Given the description of an element on the screen output the (x, y) to click on. 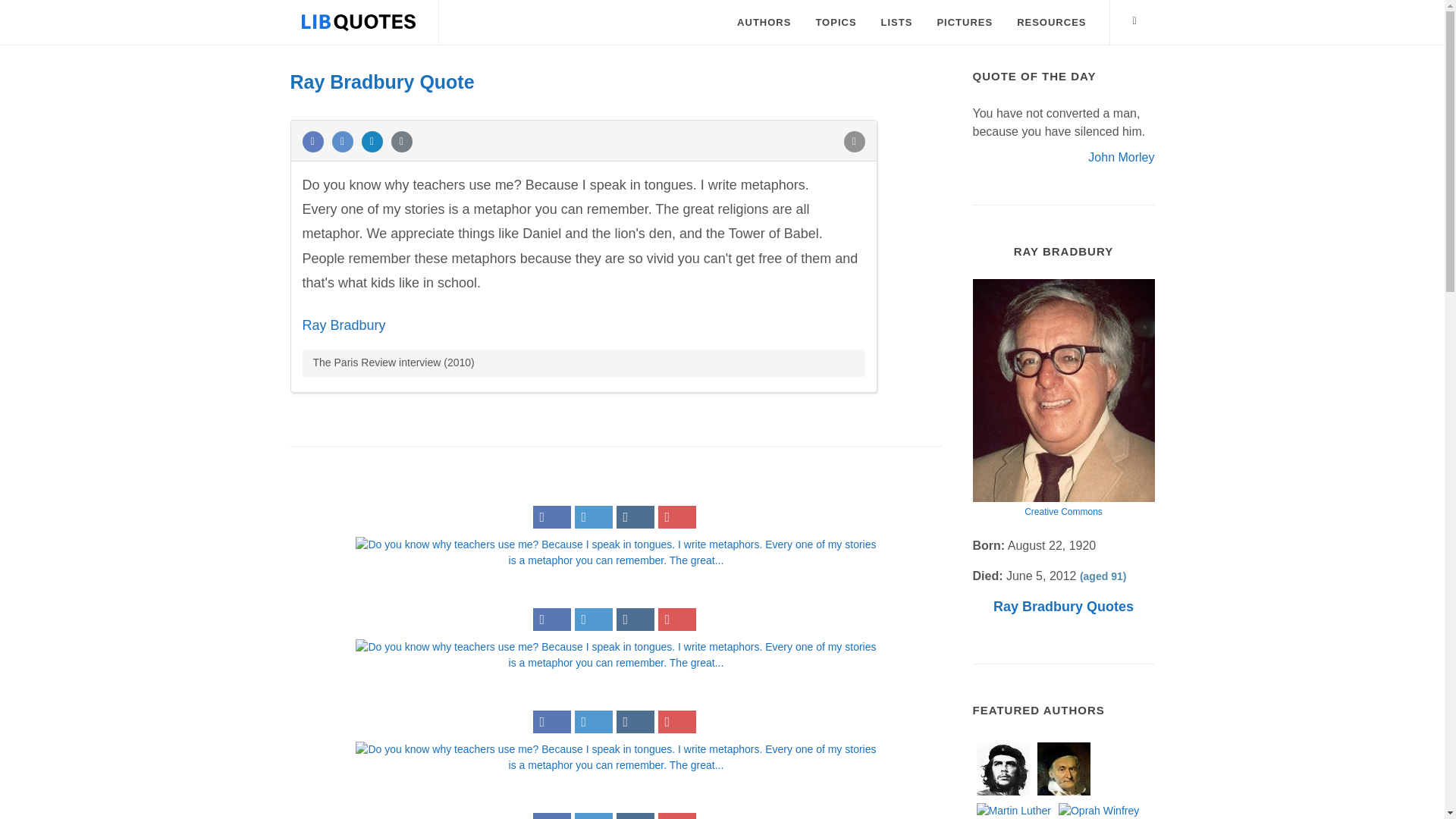
Creative Commons (1063, 511)
AUTHORS (763, 22)
PICTURES (964, 22)
LISTS (896, 22)
TOPICS (835, 22)
RESOURCES (1051, 22)
Ray Bradbury Quotes (1063, 606)
Ray Bradbury (343, 324)
John Morley (1120, 155)
